Given the description of an element on the screen output the (x, y) to click on. 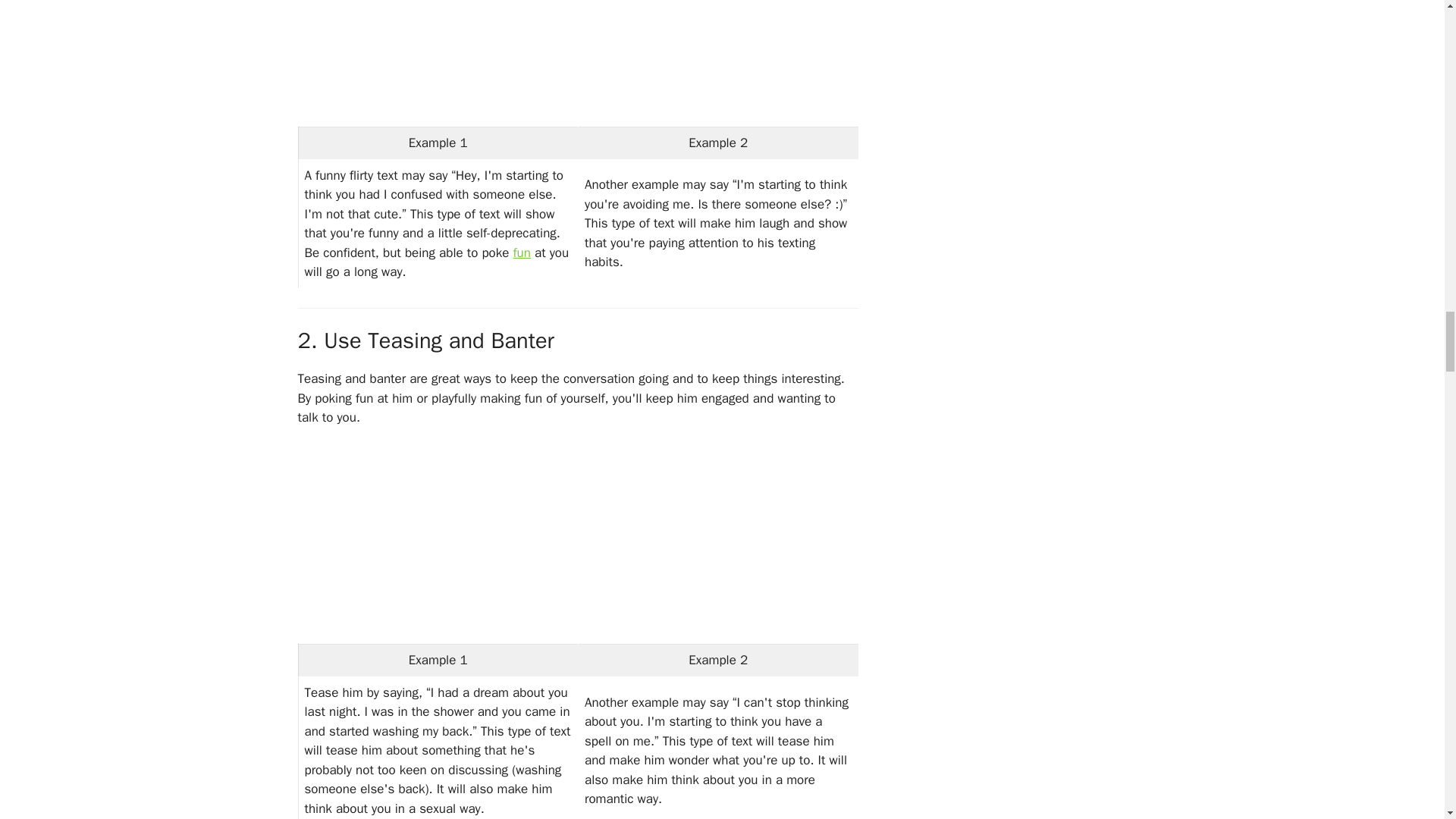
fun (520, 252)
